Given the description of an element on the screen output the (x, y) to click on. 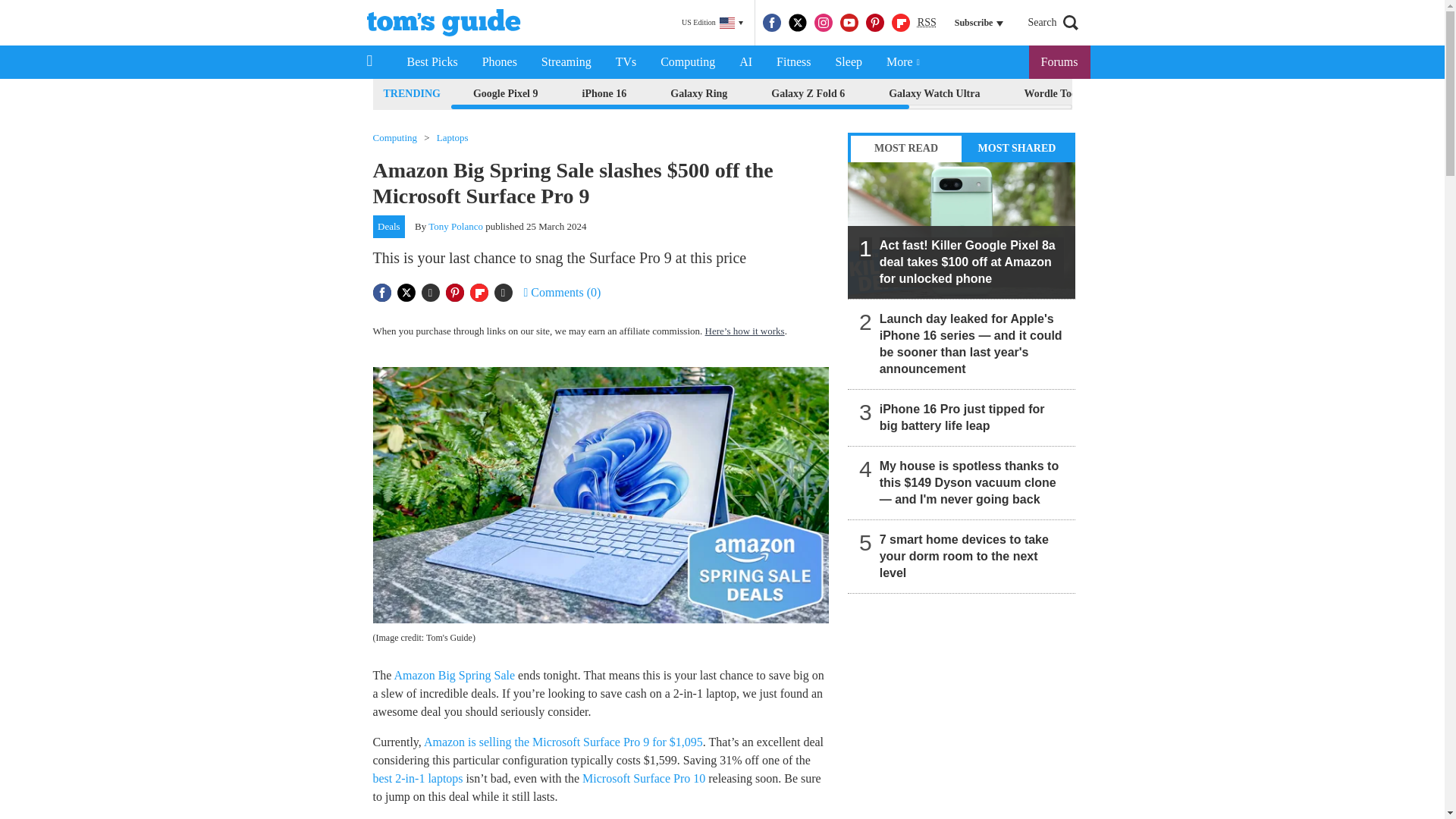
Really Simple Syndication (926, 21)
Fitness (793, 61)
Best Picks (431, 61)
Streaming (566, 61)
AI (745, 61)
Phones (499, 61)
Sleep (848, 61)
RSS (926, 22)
US Edition (712, 22)
Computing (686, 61)
TVs (626, 61)
